Given the description of an element on the screen output the (x, y) to click on. 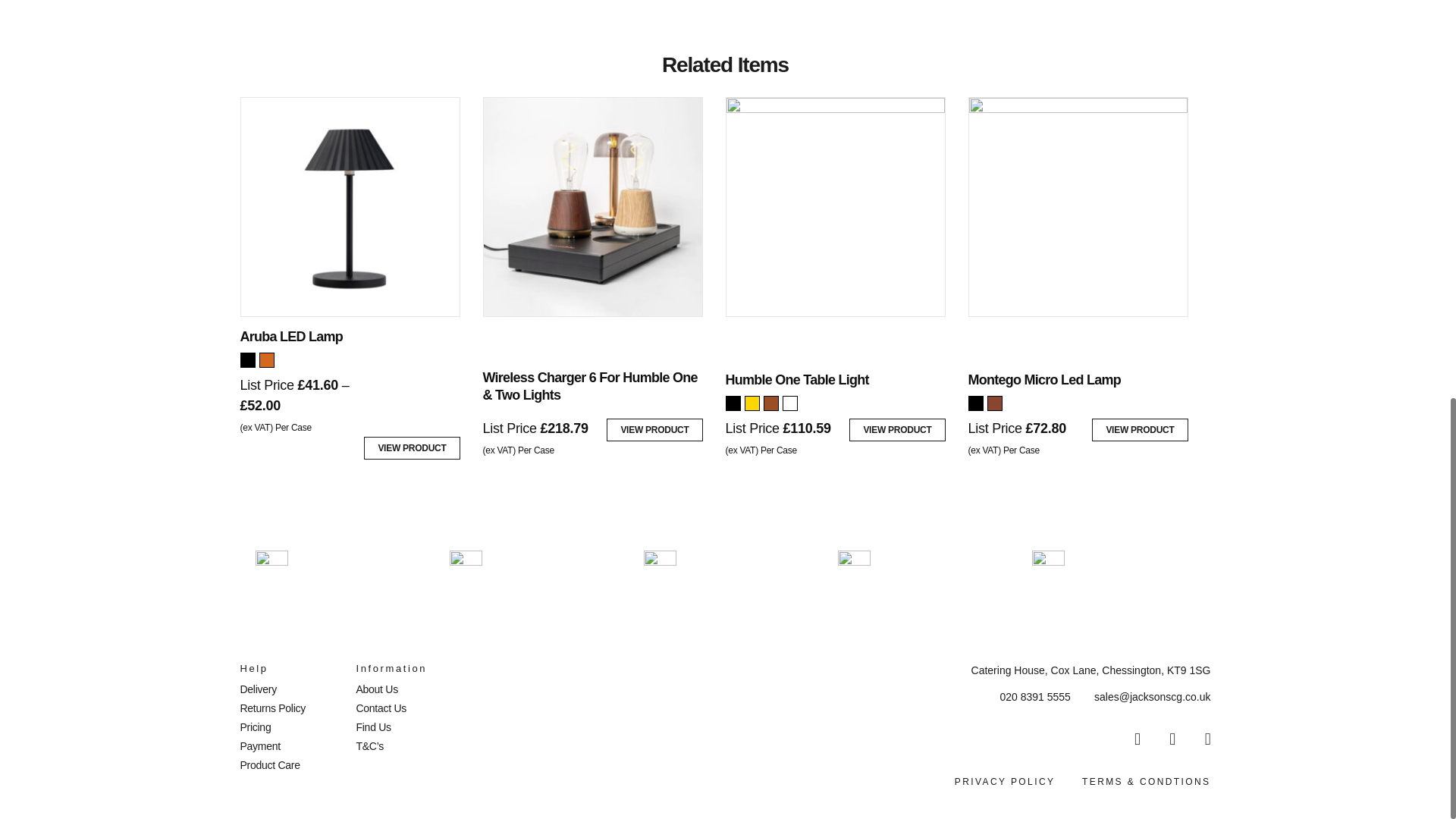
Black (247, 359)
White Marble (790, 403)
Black (975, 403)
Walnut (769, 403)
Gold (752, 403)
Cocoa (267, 359)
Corten (995, 403)
Black Wood (732, 403)
